Given the description of an element on the screen output the (x, y) to click on. 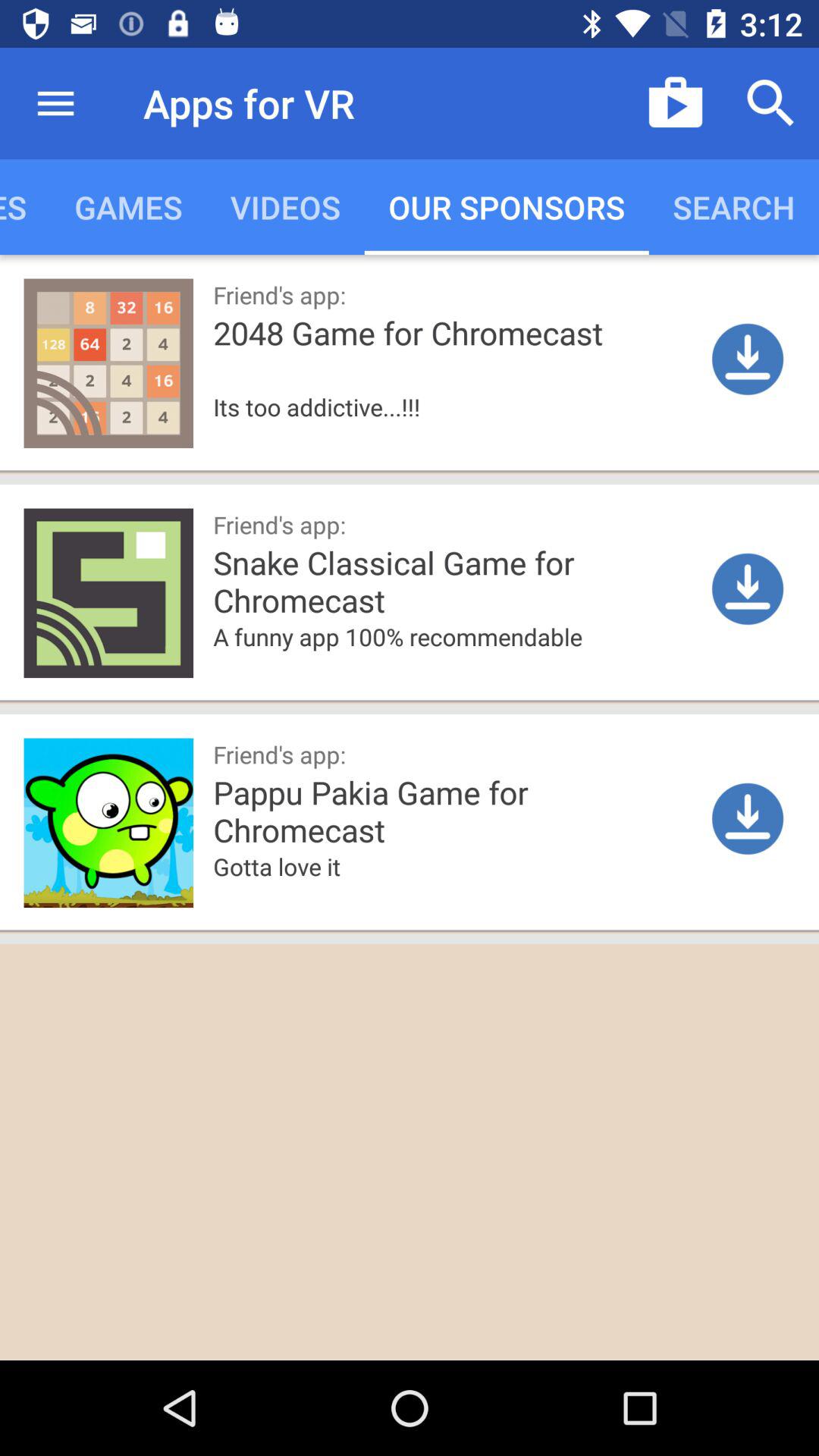
flip until a funny app item (457, 660)
